Given the description of an element on the screen output the (x, y) to click on. 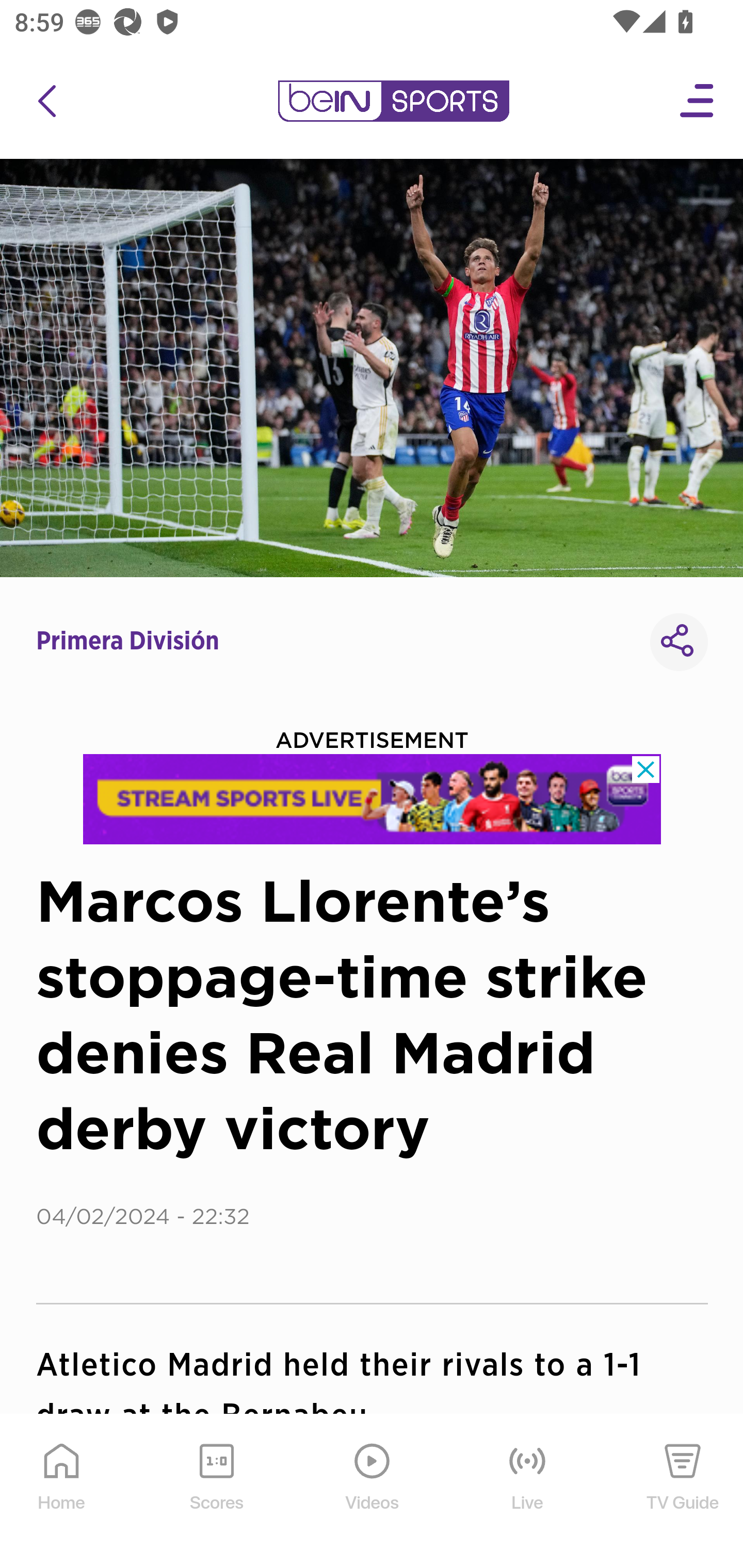
en-my?platform=mobile_android bein logo (392, 101)
icon back (46, 101)
Open Menu Icon (697, 101)
l8psv8uu (372, 799)
Home Home Icon Home (61, 1491)
Scores Scores Icon Scores (216, 1491)
Videos Videos Icon Videos (372, 1491)
TV Guide TV Guide Icon TV Guide (682, 1491)
